Given the description of an element on the screen output the (x, y) to click on. 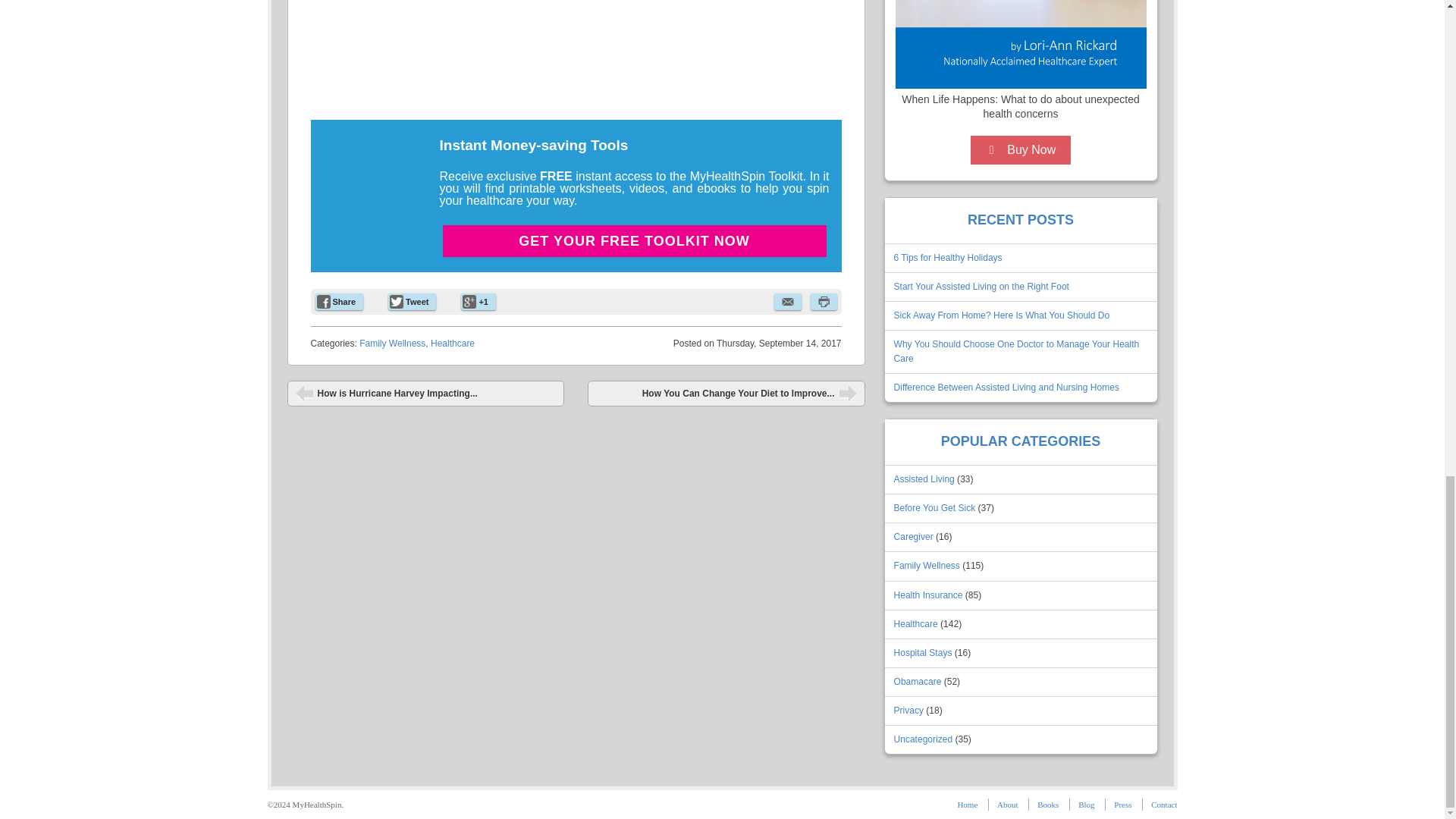
How You Can Change Your Diet to Improve... (726, 393)
Send My Toolkit (634, 397)
Family Wellness (392, 343)
print (822, 301)
Start Your Assisted Living on the Right Foot (980, 286)
Tweet this Post (411, 301)
Share (339, 301)
Share on Facebook (339, 301)
Buy Now (1020, 149)
Healthcare (452, 343)
6 Tips for Healthy Holidays (948, 257)
Tweet (411, 301)
email (786, 301)
How is Hurricane Harvey Impacting... (425, 393)
